Given the description of an element on the screen output the (x, y) to click on. 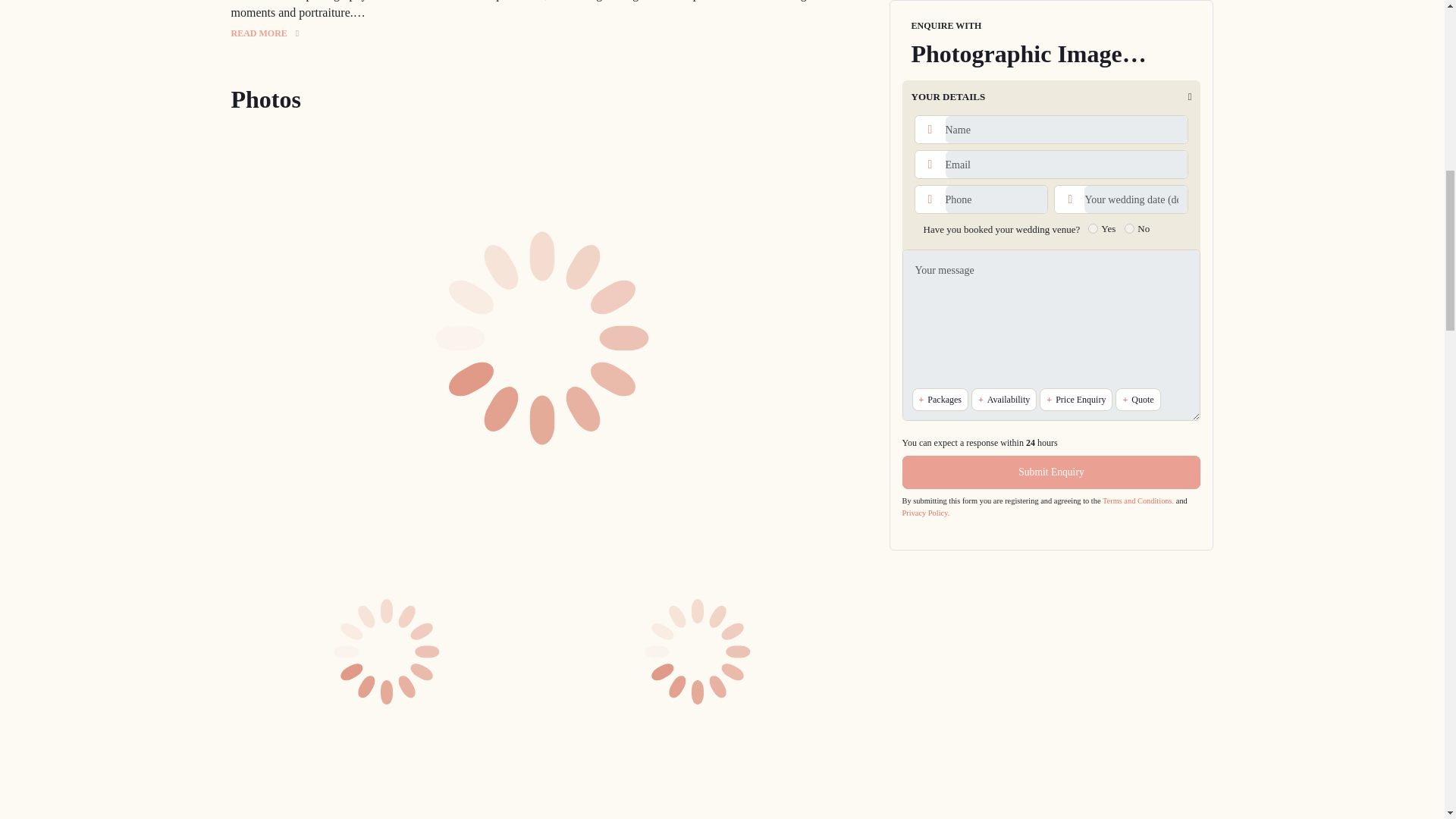
Terms and Conditions. (1137, 281)
No (1129, 9)
Privacy Policy. (926, 293)
Submit Enquiry (1051, 253)
READ MORE (264, 33)
Yes (1092, 9)
